Given the description of an element on the screen output the (x, y) to click on. 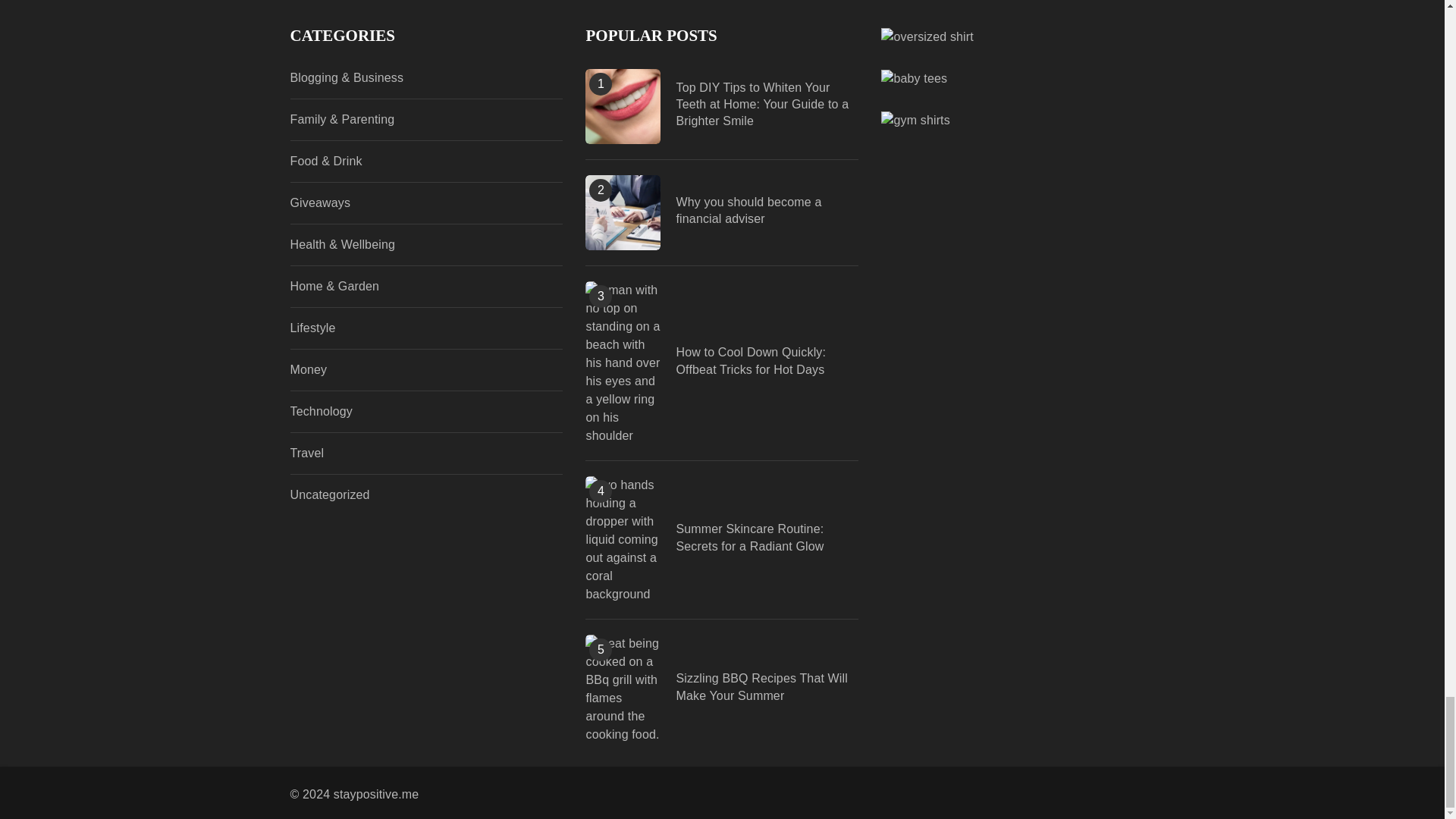
oversized shirt (926, 35)
gym shirts (914, 119)
baby tees (913, 77)
